Given the description of an element on the screen output the (x, y) to click on. 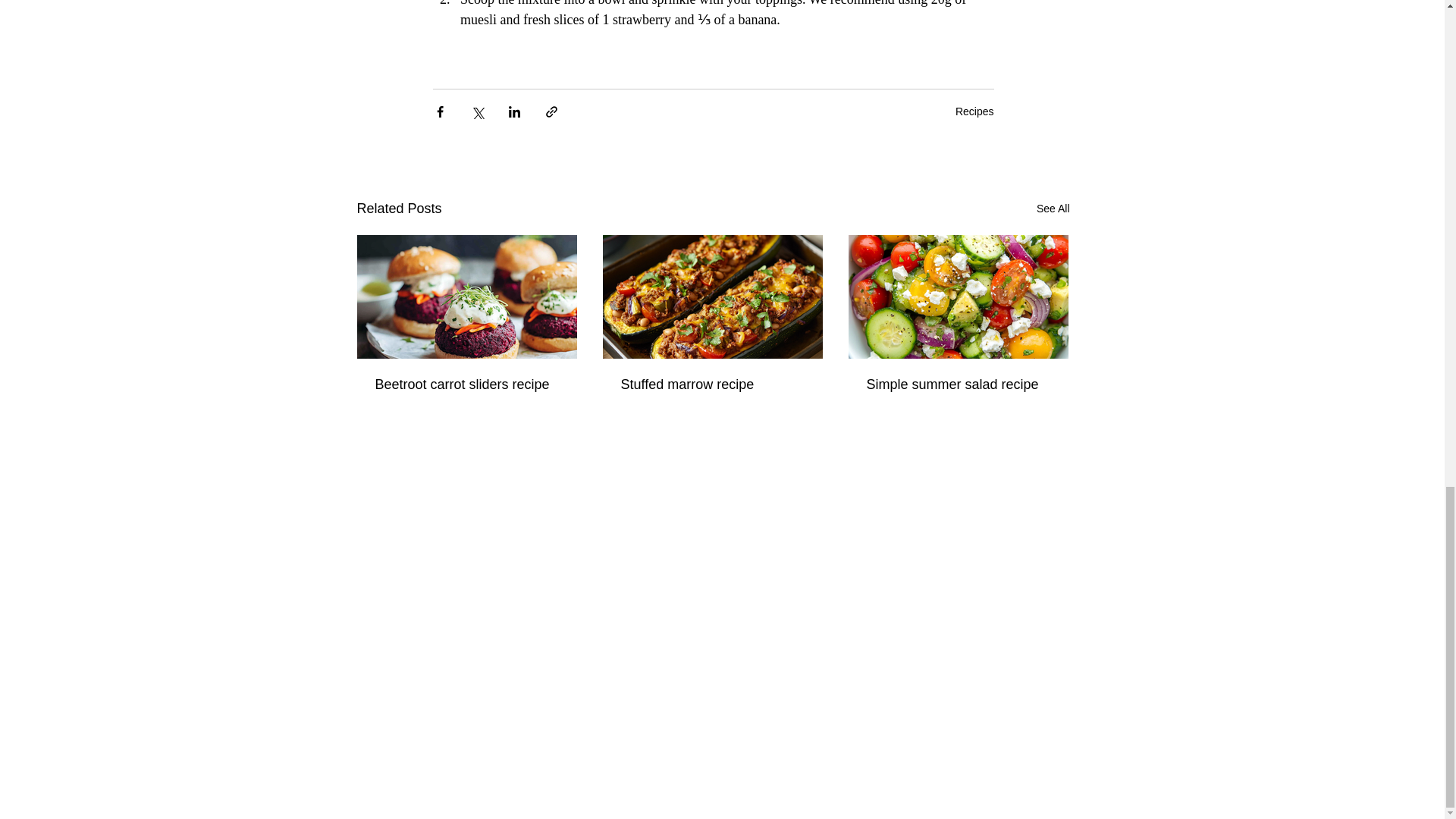
Stuffed marrow recipe (711, 384)
Beetroot carrot sliders recipe (465, 384)
Recipes (974, 111)
See All (1053, 209)
Simple summer salad recipe (957, 384)
